Given the description of an element on the screen output the (x, y) to click on. 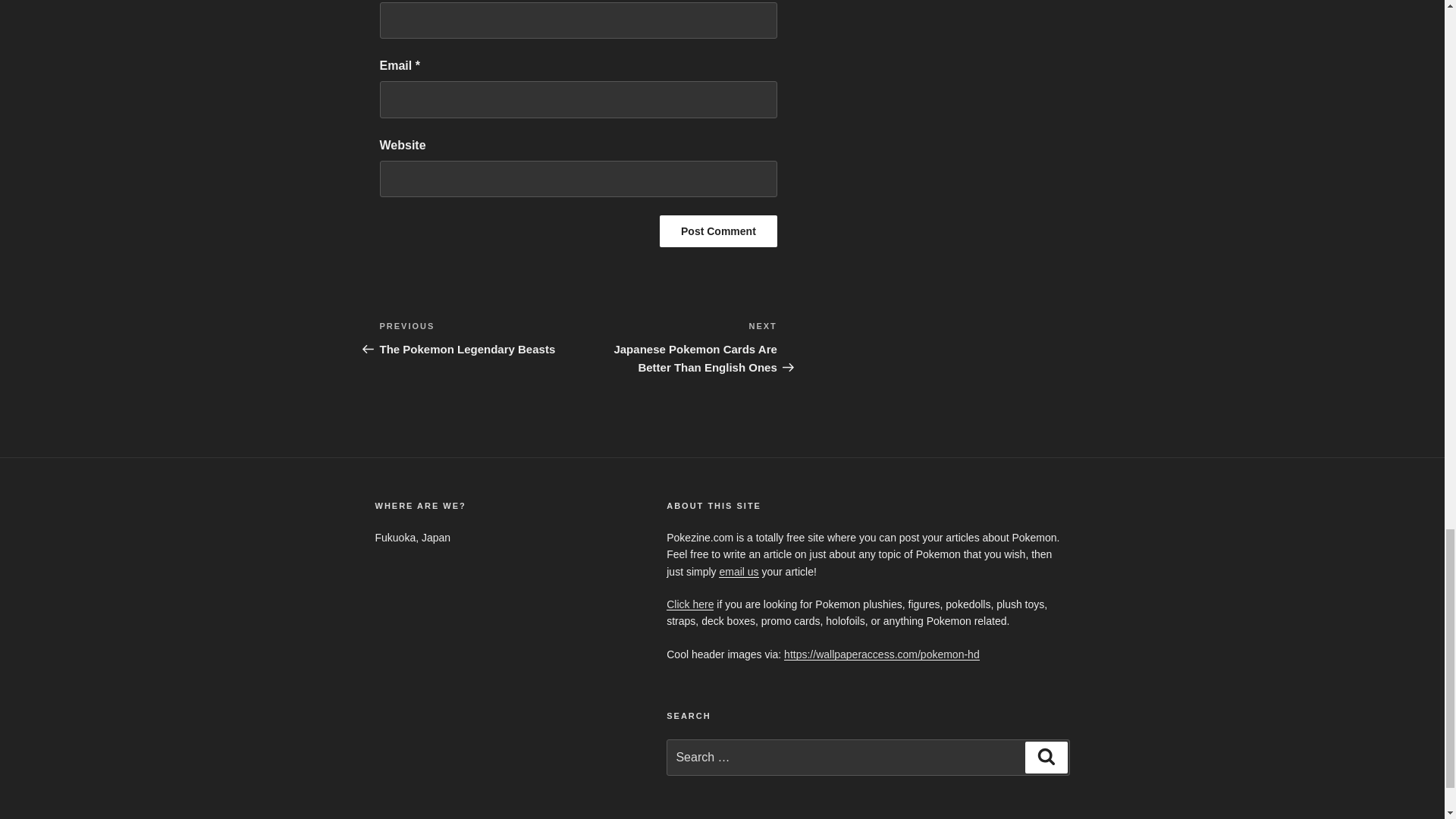
email us (478, 338)
Post Comment (738, 571)
Post Comment (718, 231)
Click here (718, 231)
